Given the description of an element on the screen output the (x, y) to click on. 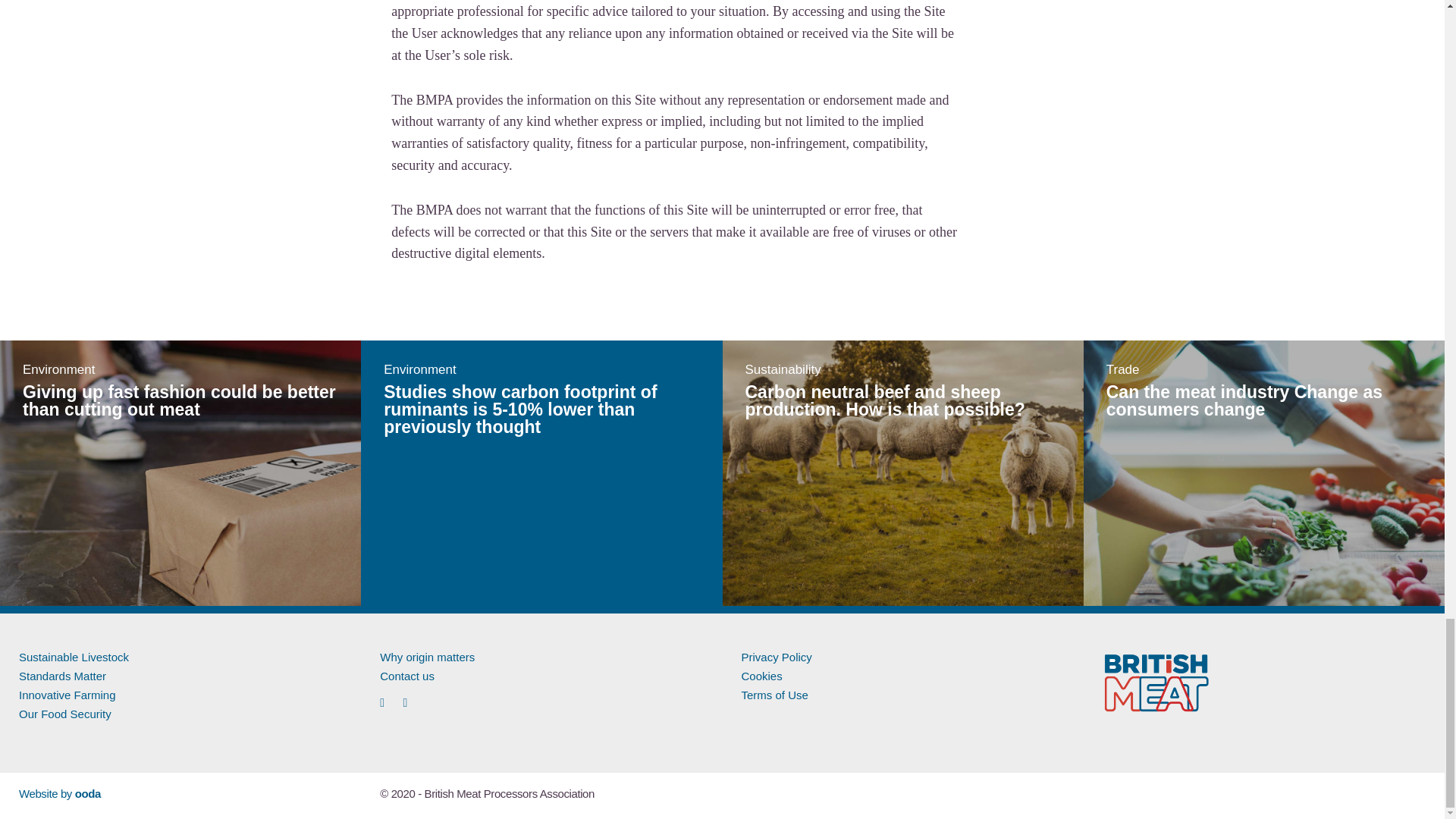
Website by ooda (59, 793)
Privacy Policy (776, 656)
Cookies (762, 675)
Can the meat industry Change as consumers change (1243, 400)
Why origin matters (427, 656)
Contact us (406, 675)
Innovative Farming (67, 694)
Standards Matter (62, 675)
Sustainable Livestock (73, 656)
Terms of Use (774, 694)
Our Food Security (65, 713)
Giving up fast fashion could be better than cutting out meat (179, 400)
